Given the description of an element on the screen output the (x, y) to click on. 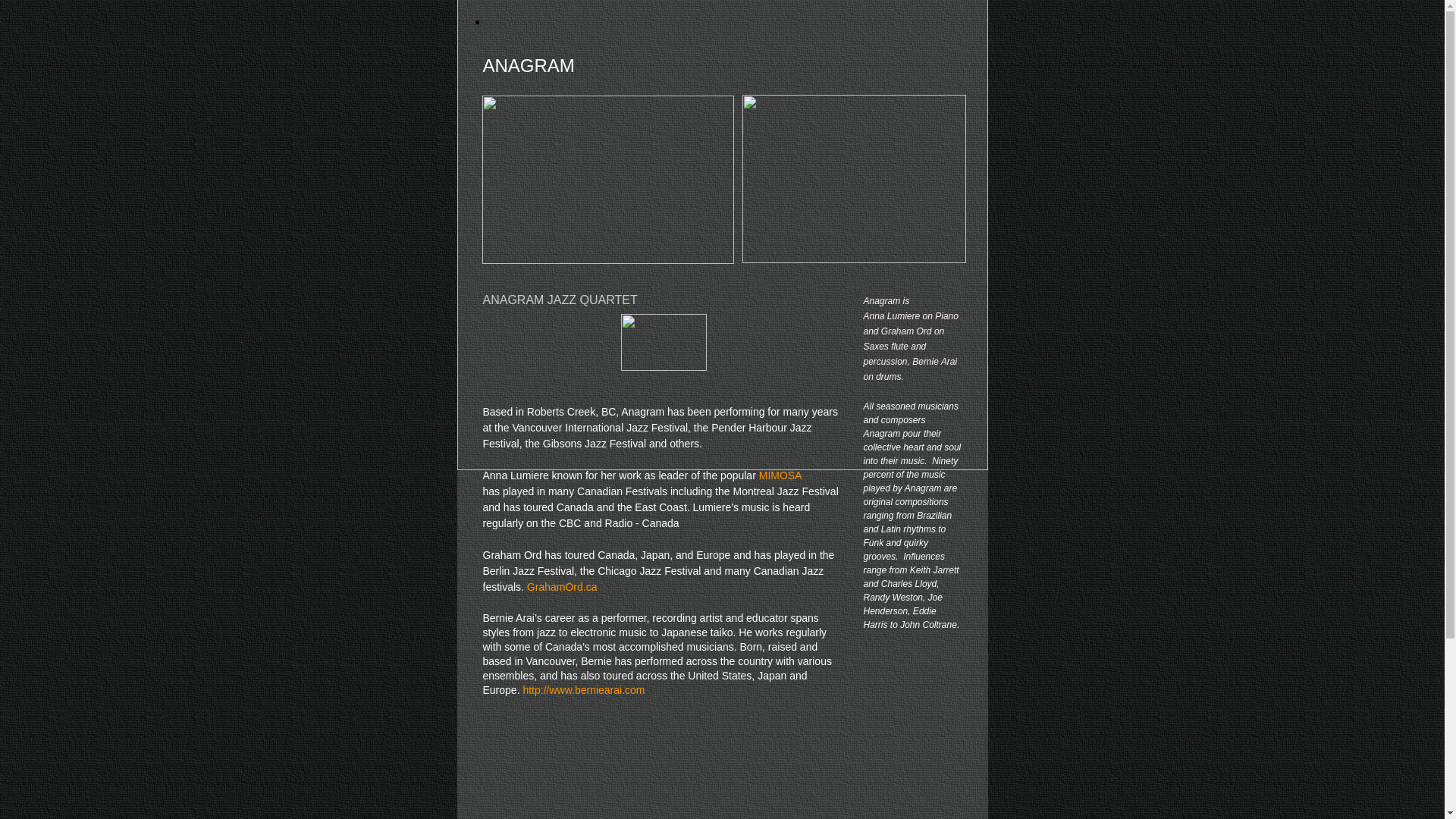
http://www.berniearai.com Element type: text (583, 690)
GrahamOrd.ca Element type: text (562, 586)
MIMOSA Element type: text (780, 475)
